Given the description of an element on the screen output the (x, y) to click on. 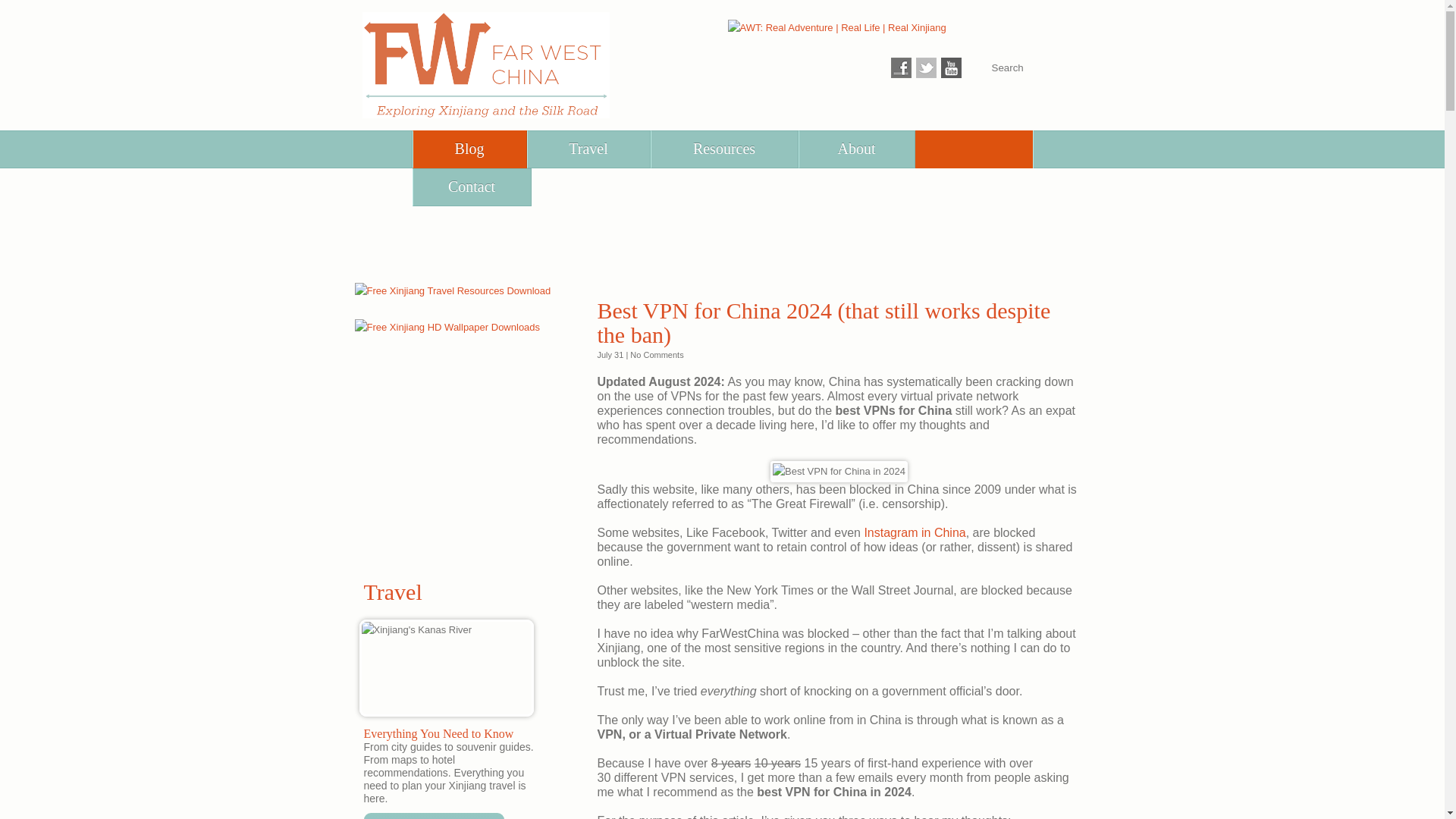
No Comments (656, 354)
Travel (588, 149)
Blog (468, 149)
Resources (723, 149)
Instagram in China (914, 532)
Contact (470, 186)
About (856, 149)
Far West China (486, 64)
